Given the description of an element on the screen output the (x, y) to click on. 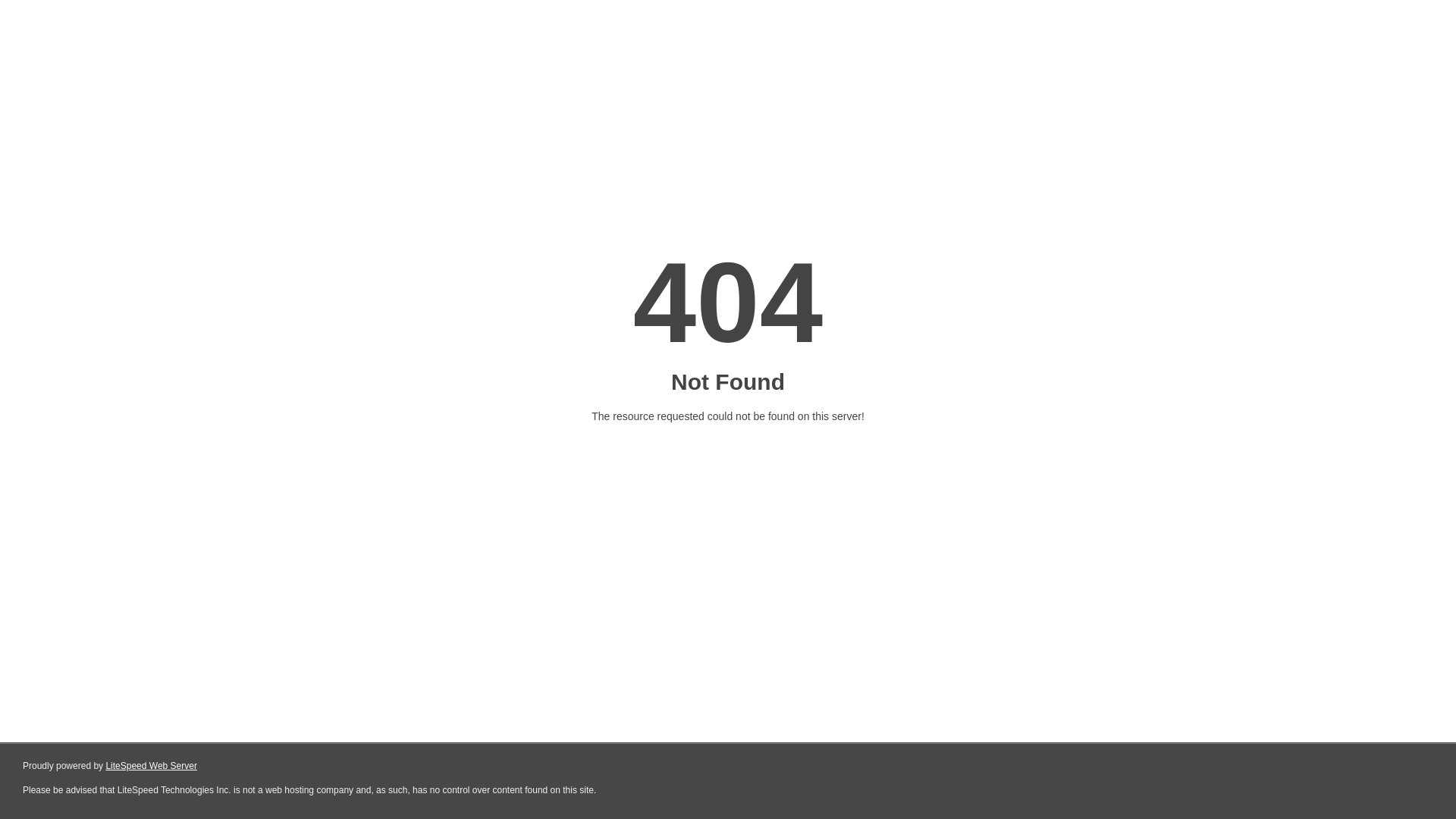
LiteSpeed Web Server Element type: text (151, 765)
